Given the description of an element on the screen output the (x, y) to click on. 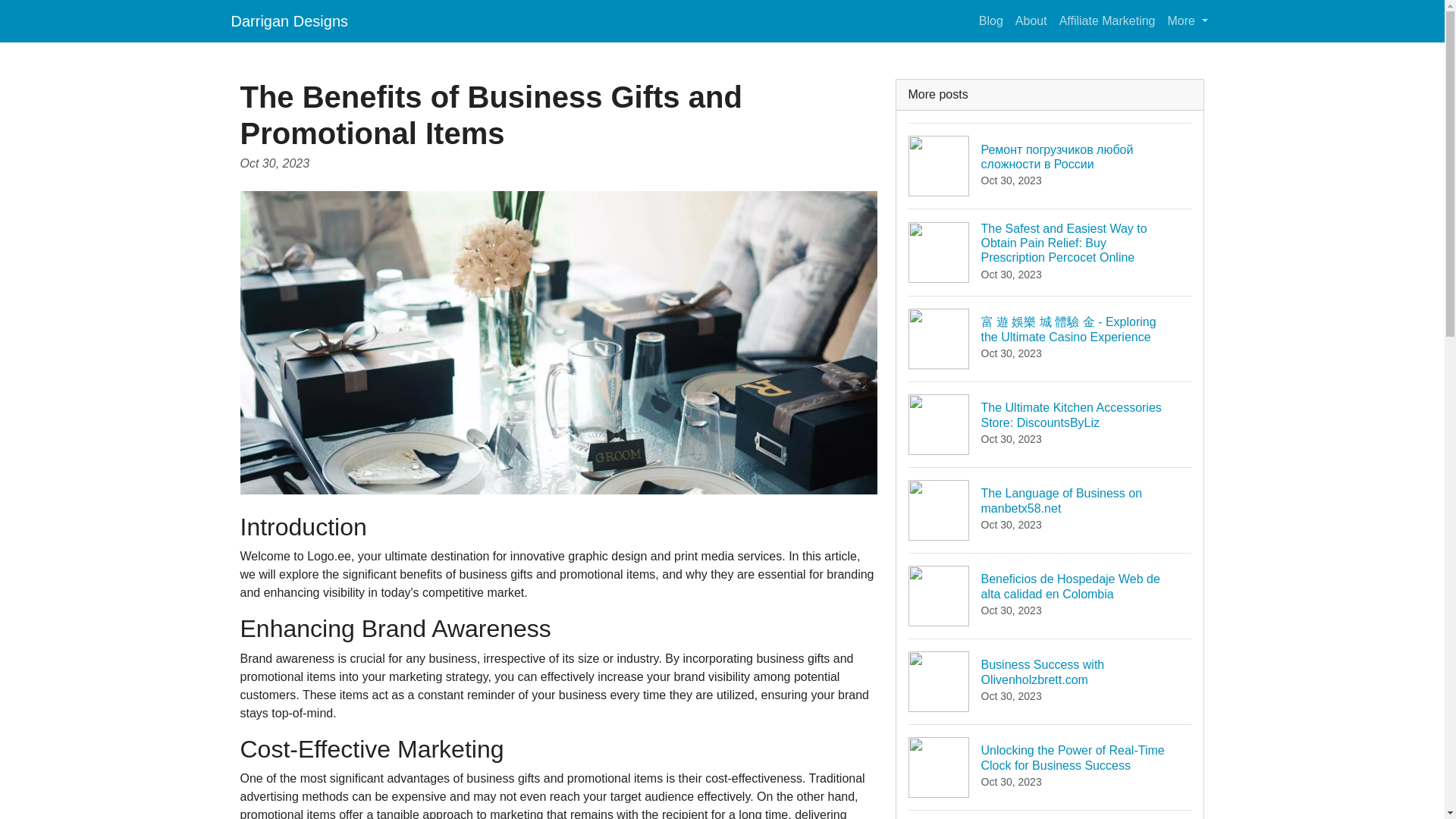
More (1050, 509)
Blog (1187, 20)
Darrigan Designs (990, 20)
About (288, 20)
